Given the description of an element on the screen output the (x, y) to click on. 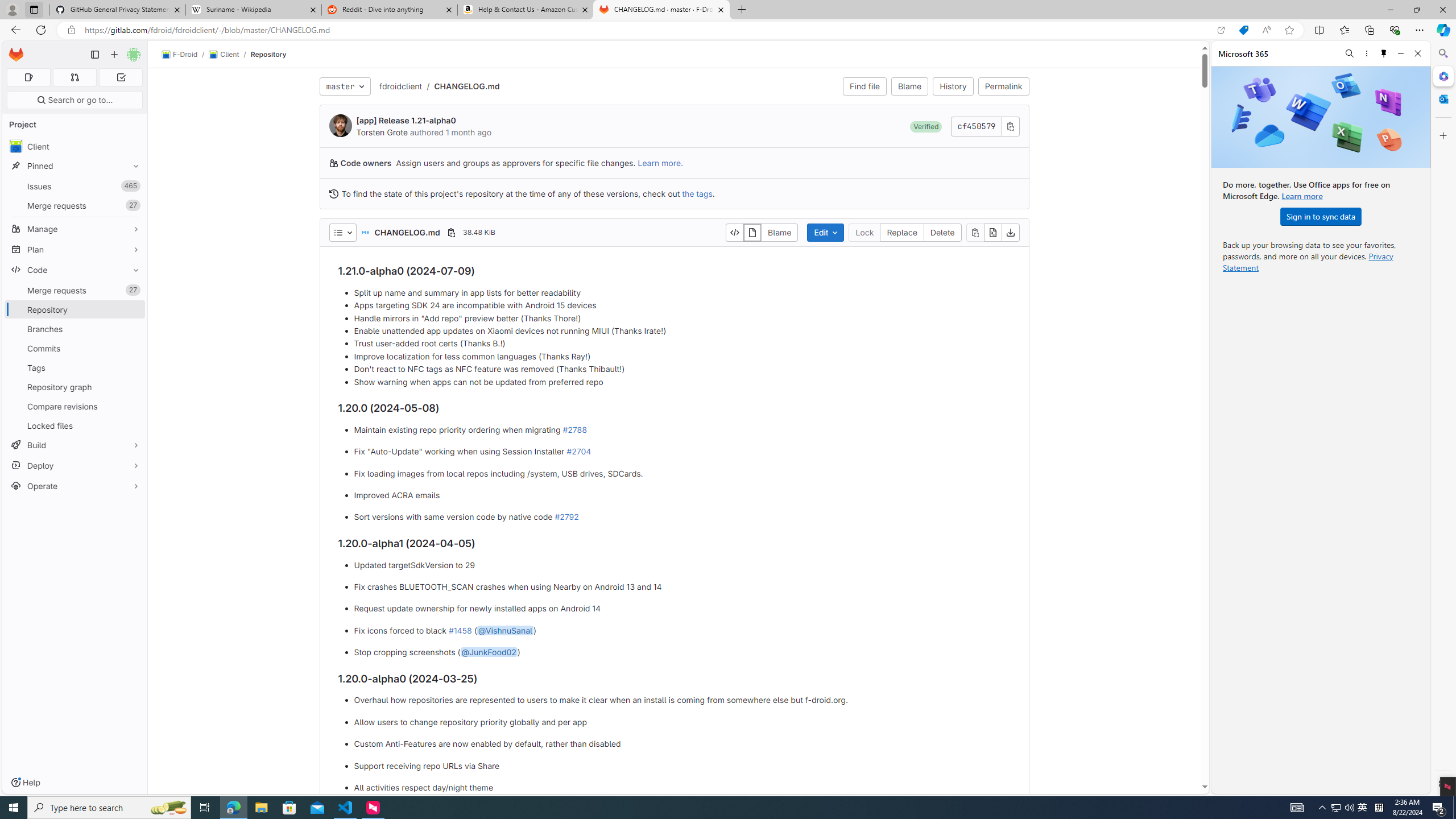
Branches (74, 328)
Repository graph (74, 386)
/CHANGELOG.md (460, 85)
Fix "Auto-Update" working when using Session Installer #2704 (681, 451)
Help & Contact Us - Amazon Customer Service (525, 9)
Pin Repository (132, 309)
Blame (779, 232)
Improve localization for less common languages (Thanks Ray!) (681, 356)
Create new... (113, 54)
Display rendered file (752, 232)
Shopping in Microsoft Edge (1243, 29)
